Given the description of an element on the screen output the (x, y) to click on. 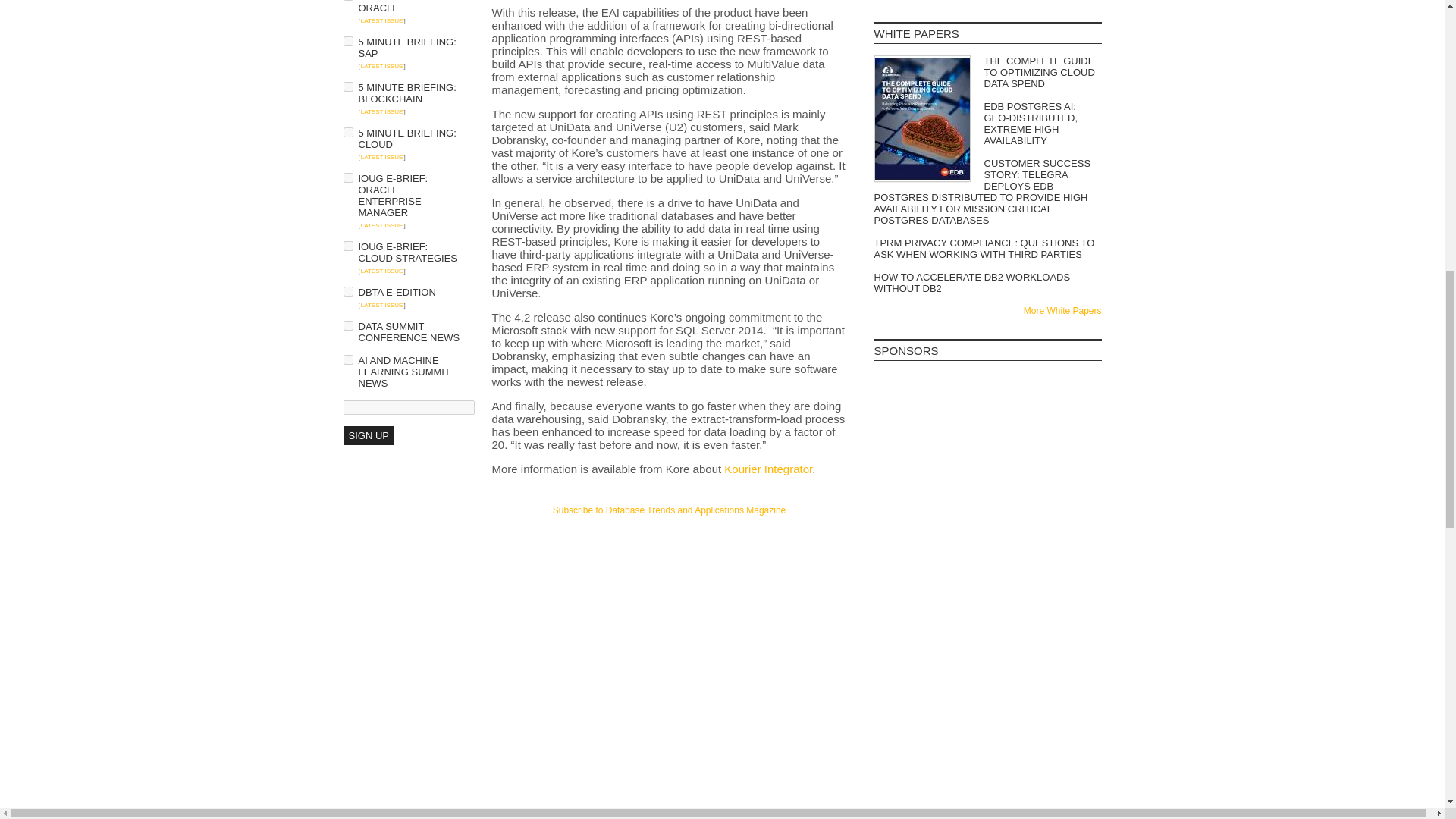
Sign Up (367, 435)
How to Accelerate DB2 Workloads Without DB2 (986, 282)
on (347, 86)
on (347, 132)
on (347, 245)
3rd party ad content (986, 591)
EDB Postgres Ai: Geo-distributed, Extreme High Availability (986, 123)
on (347, 40)
